Given the description of an element on the screen output the (x, y) to click on. 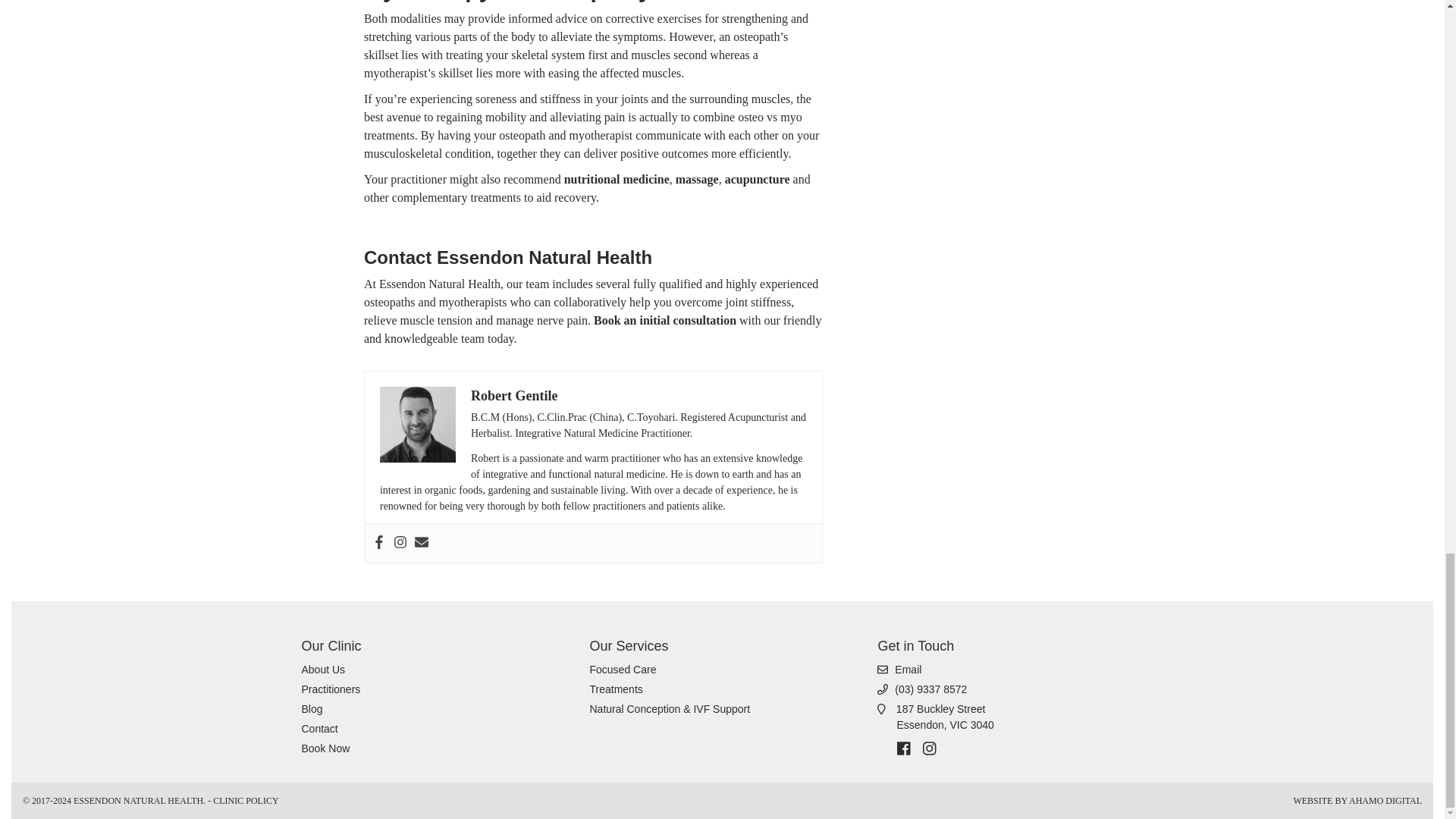
About Us (323, 669)
Book an initial consultation (665, 319)
CLINIC POLICY (245, 800)
Treatments (934, 716)
Blog (615, 689)
nutritional medicine (312, 708)
Robert Gentile (616, 178)
Book Now (513, 395)
Contact (325, 748)
